Given the description of an element on the screen output the (x, y) to click on. 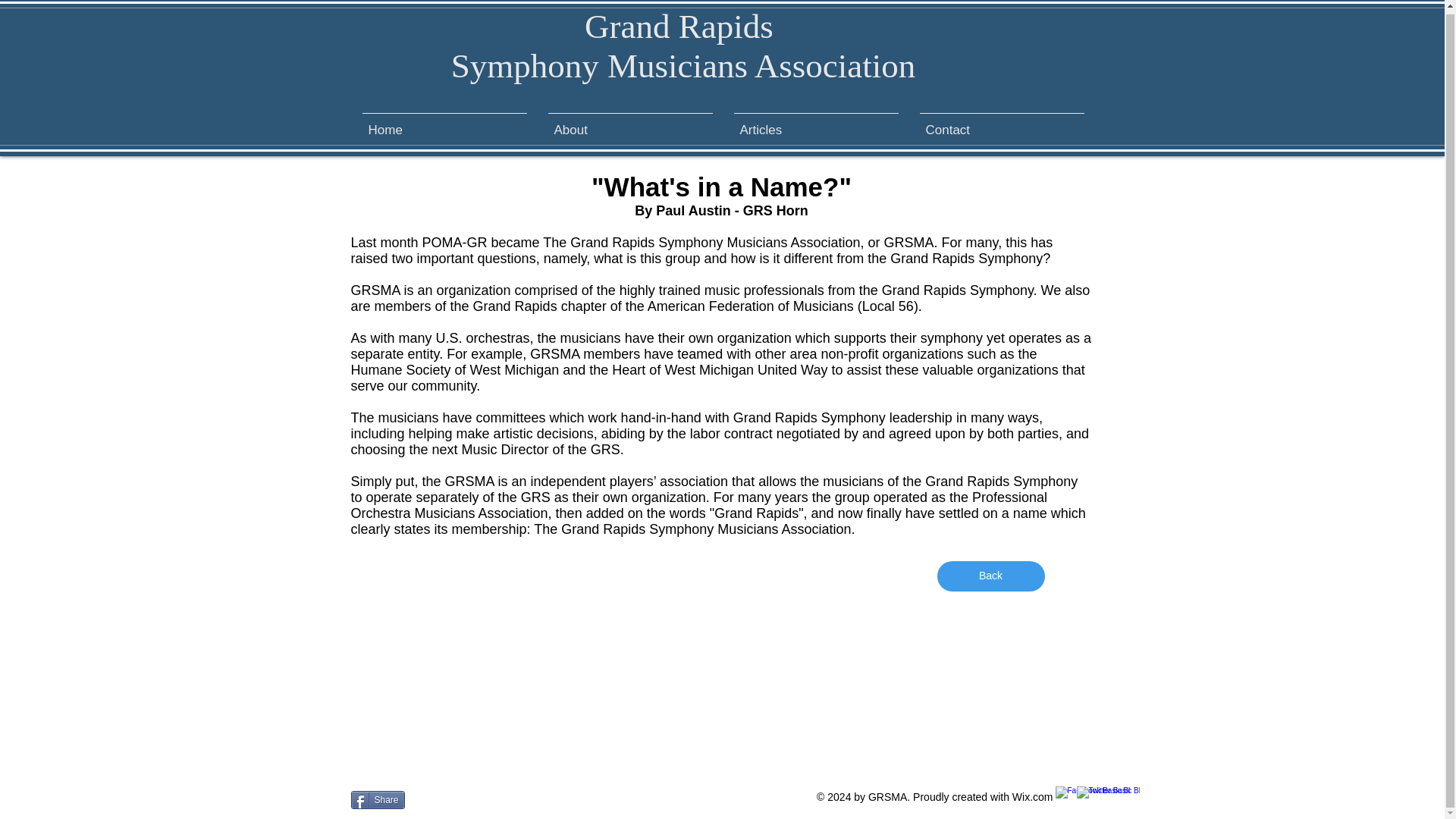
Articles (815, 123)
Twitter Tweet (438, 801)
Share (377, 800)
Home (444, 123)
About (629, 123)
